Given the description of an element on the screen output the (x, y) to click on. 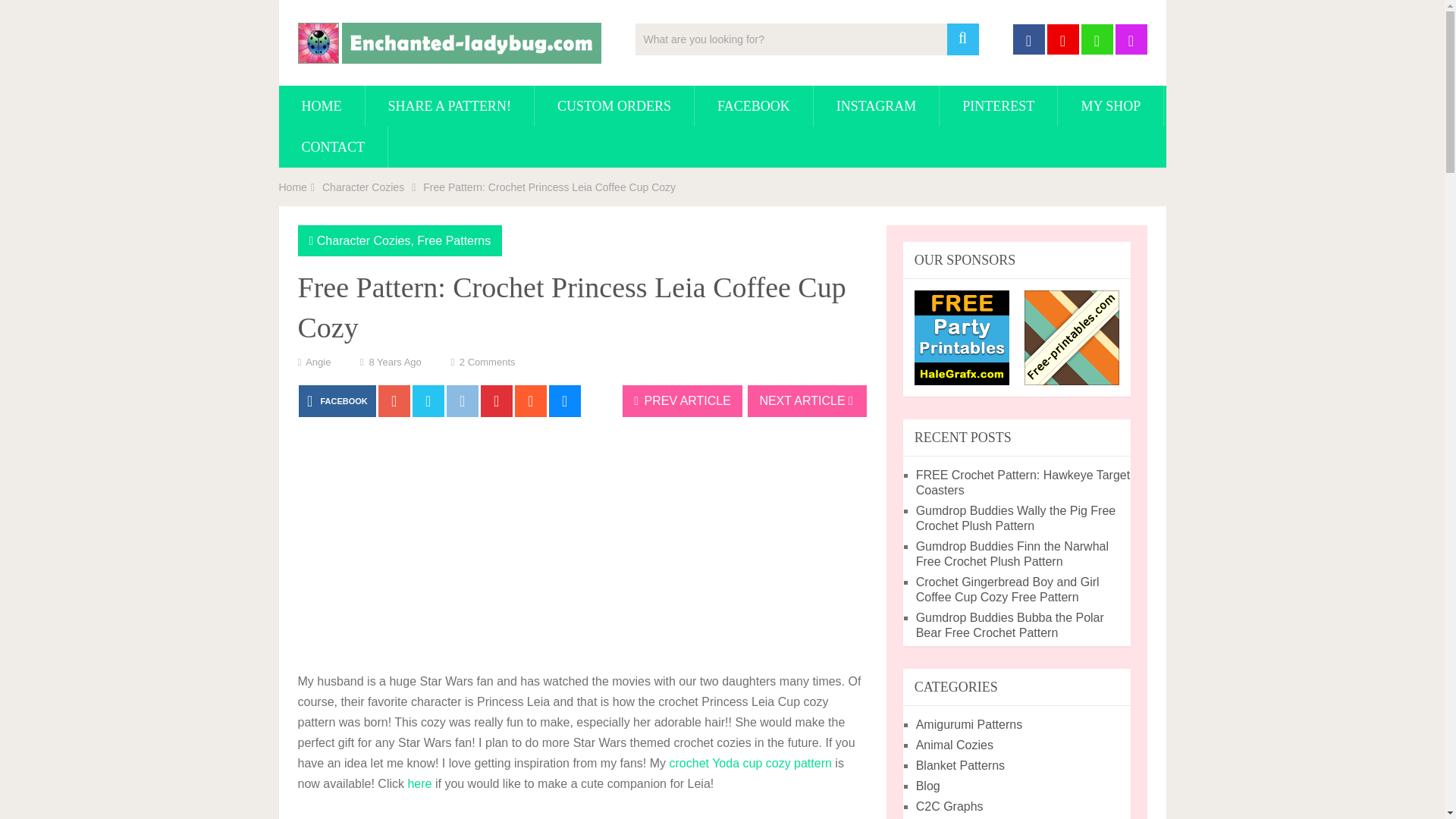
MY SHOP (1110, 105)
Character Cozies (362, 186)
NEXT ARTICLE (807, 400)
Angie (317, 361)
SHARE A PATTERN! (449, 105)
CONTACT (333, 146)
View all posts in Free Patterns (453, 240)
HOME (322, 105)
View all posts in Character Cozies (363, 240)
Advertisement (581, 545)
